Given the description of an element on the screen output the (x, y) to click on. 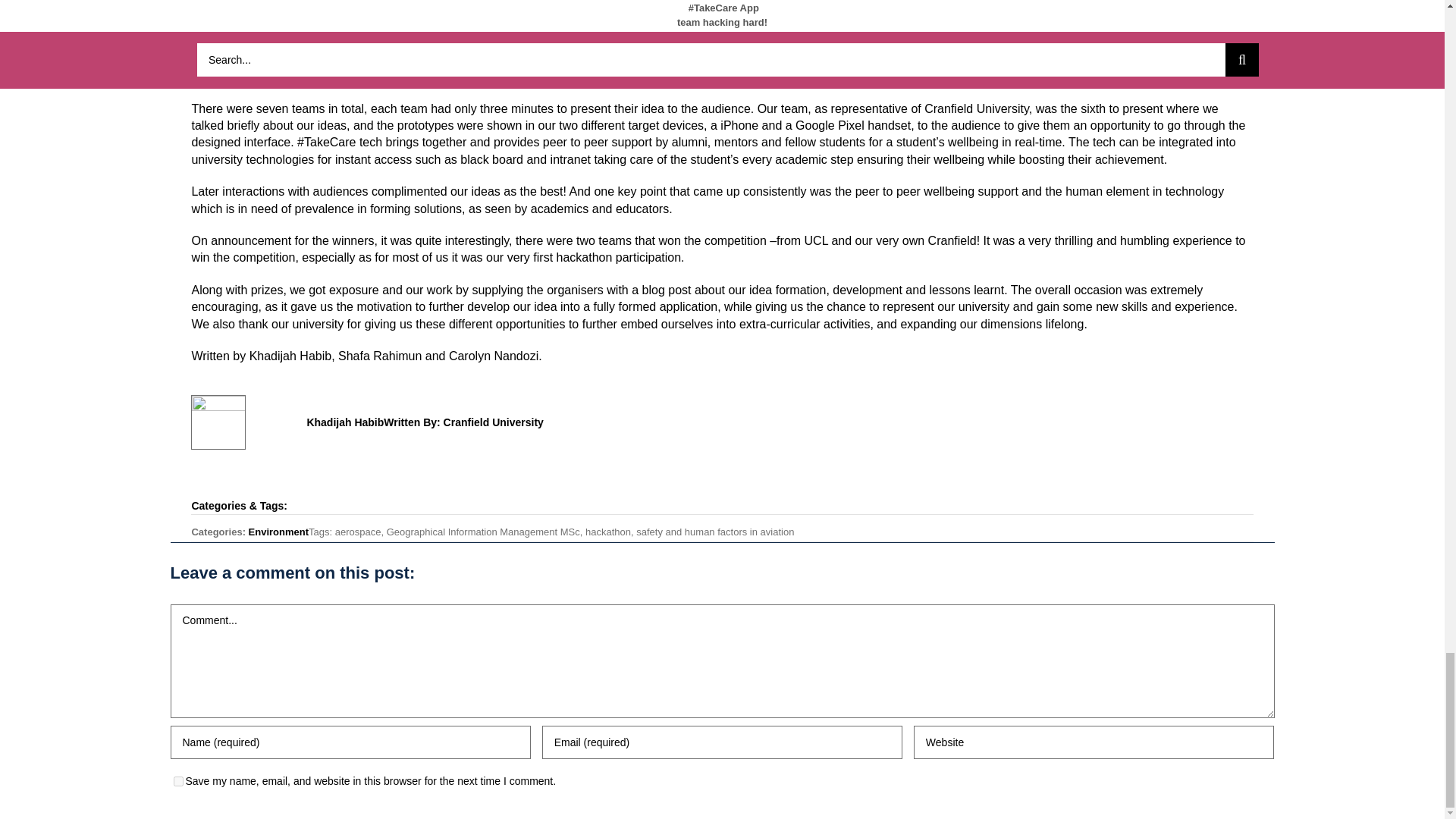
yes (178, 781)
